Given the description of an element on the screen output the (x, y) to click on. 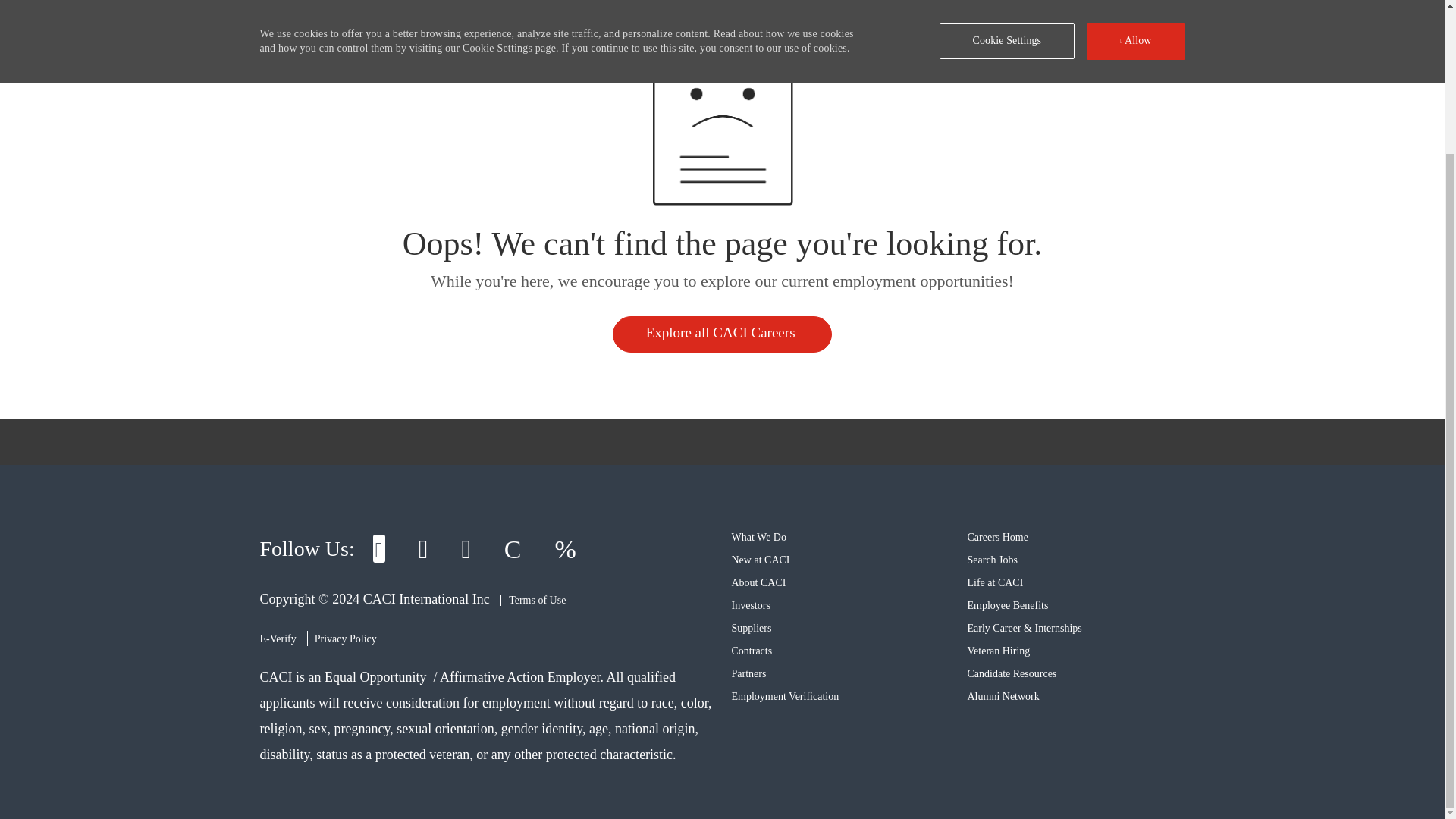
Explore all CACI Careers  (722, 334)
Suppliers (750, 627)
What We Do (758, 536)
Terms of Use (533, 600)
E-Verify (277, 638)
Privacy Policy (345, 638)
Investors (750, 604)
About CACI (758, 582)
New at CACI (759, 559)
